Given the description of an element on the screen output the (x, y) to click on. 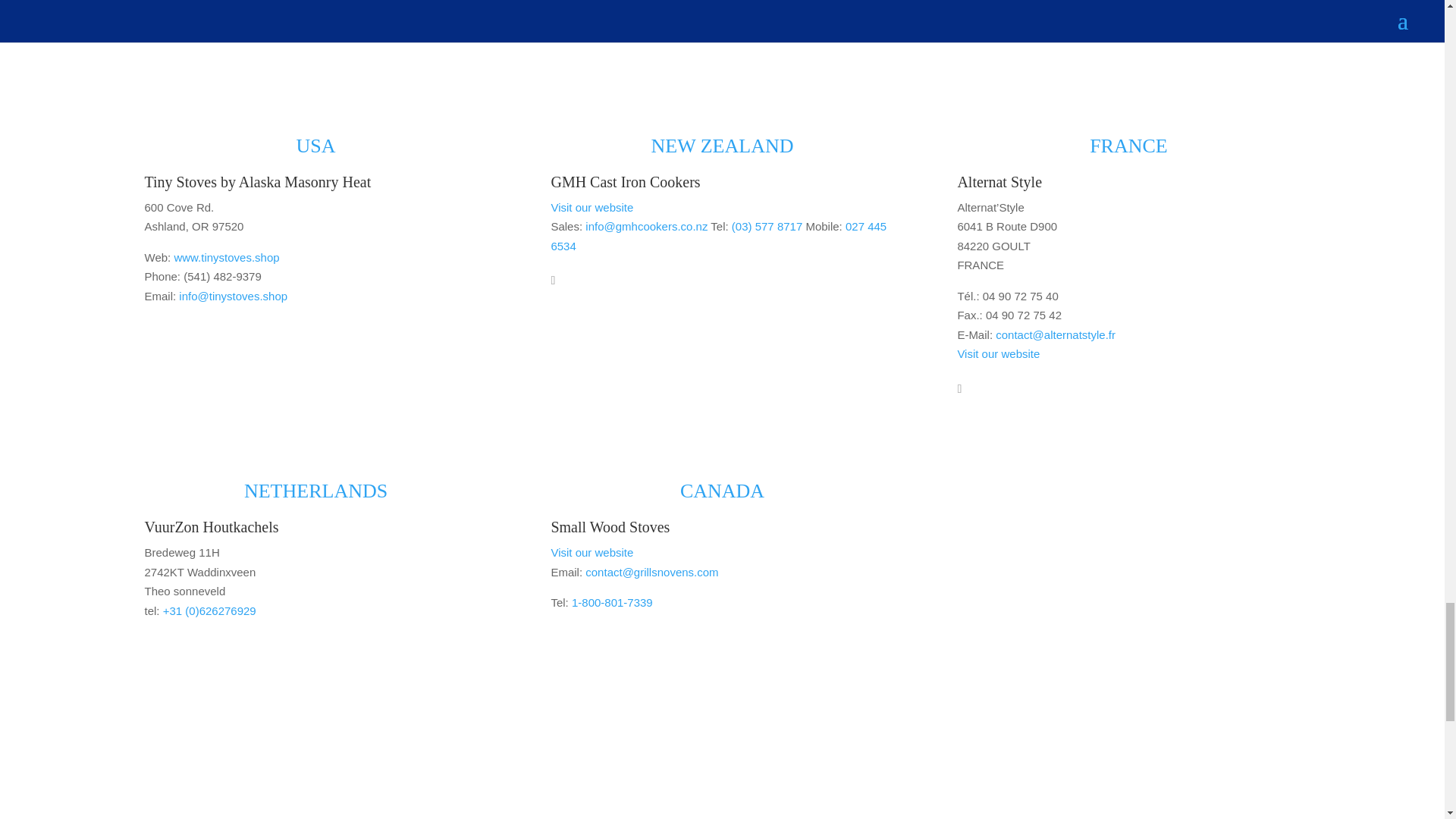
www.tinystoves.shop (226, 256)
Visit our website (591, 206)
